Given the description of an element on the screen output the (x, y) to click on. 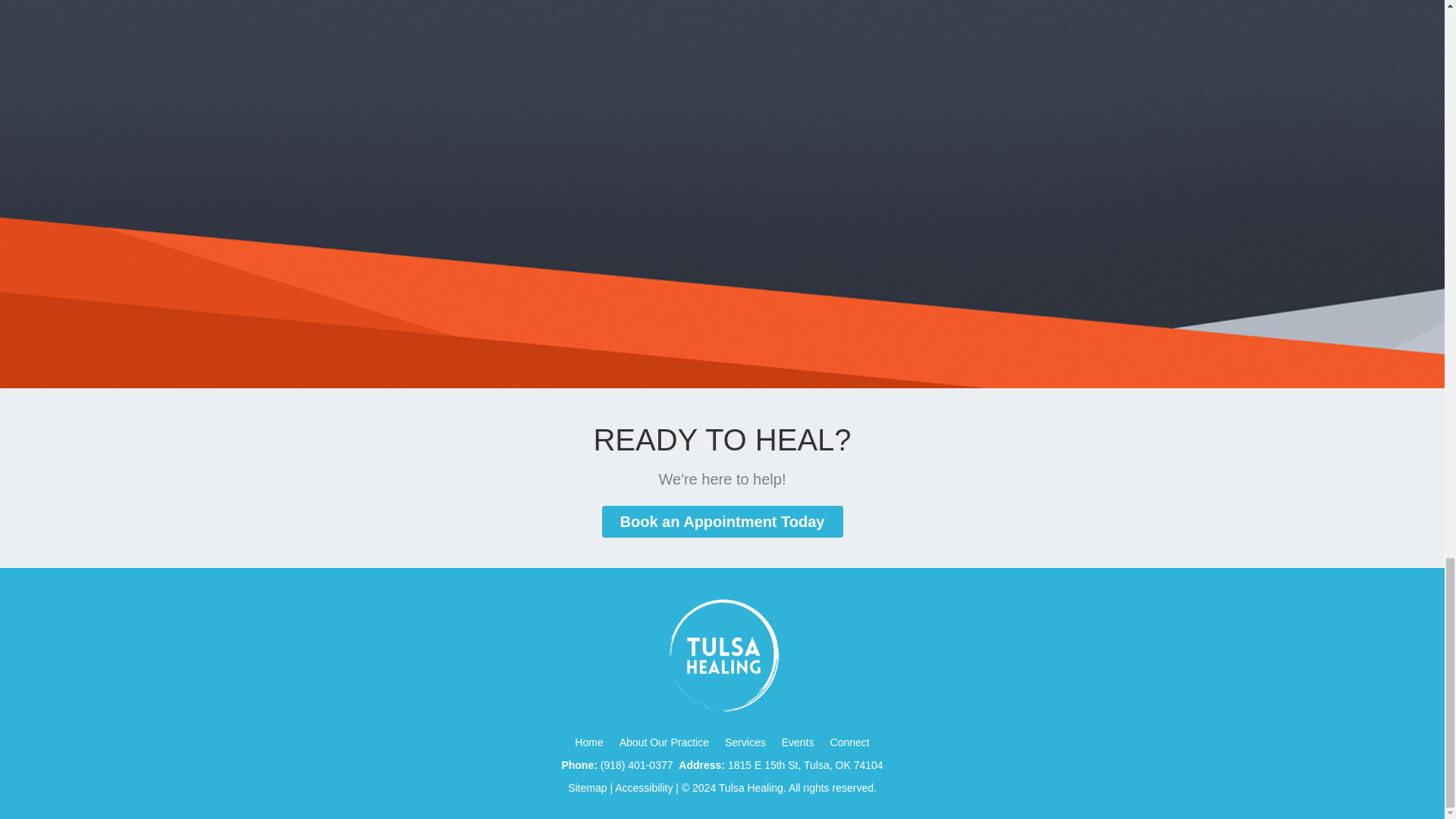
About Our Practice (663, 742)
Services (745, 742)
Book an Appointment Today (722, 521)
READY TO HEAL? (721, 439)
Home (588, 742)
Sitemap (587, 787)
logo-white (721, 654)
Events (798, 742)
1815 E 15th St, Tulsa, OK 74104 (805, 765)
Connect (849, 742)
Home (588, 742)
Accessibility (643, 787)
About Our Practice (663, 742)
Services (745, 742)
